Given the description of an element on the screen output the (x, y) to click on. 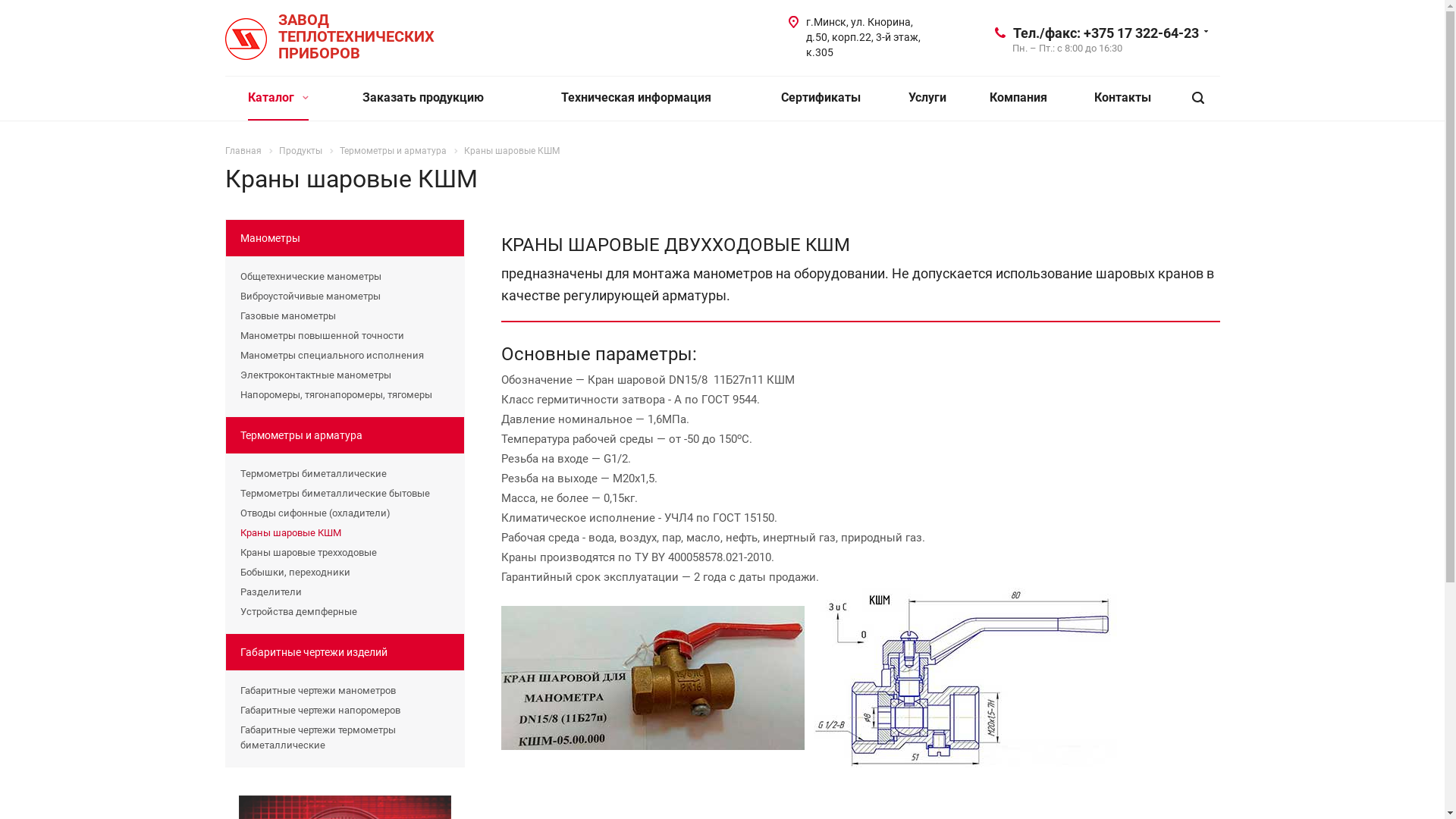
kshm-2-1.jpg Element type: hover (964, 677)
kshm-1-1.jpg Element type: hover (651, 677)
